Given the description of an element on the screen output the (x, y) to click on. 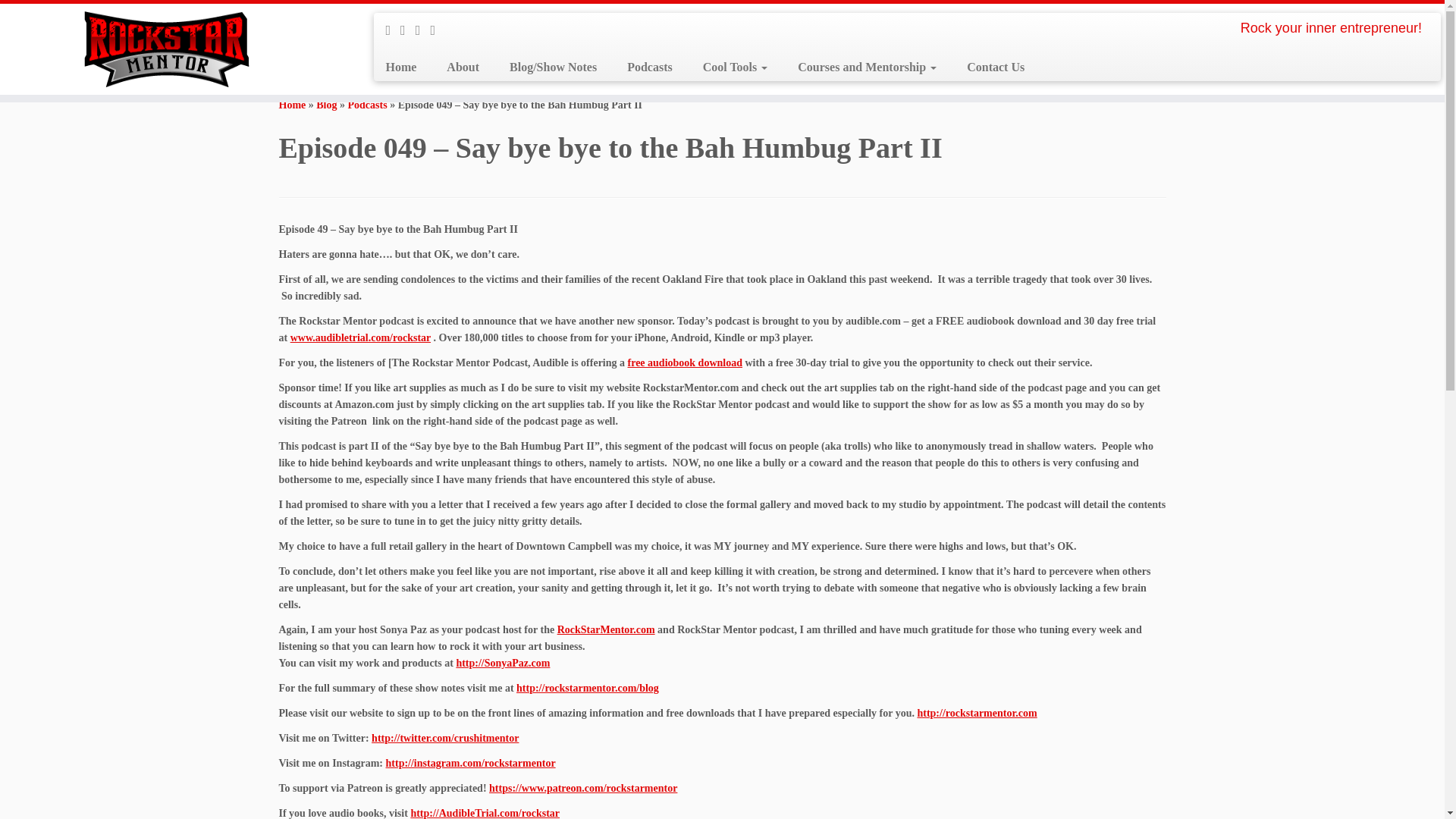
Podcasts (367, 104)
Courses and Mentorship (867, 67)
Contact Us (988, 67)
Blog (325, 104)
Podcasts (367, 104)
Subscribe to my rss feed (392, 29)
Rockstar Mentor (292, 104)
Blog (325, 104)
free audiobook download (684, 362)
About (462, 67)
